Given the description of an element on the screen output the (x, y) to click on. 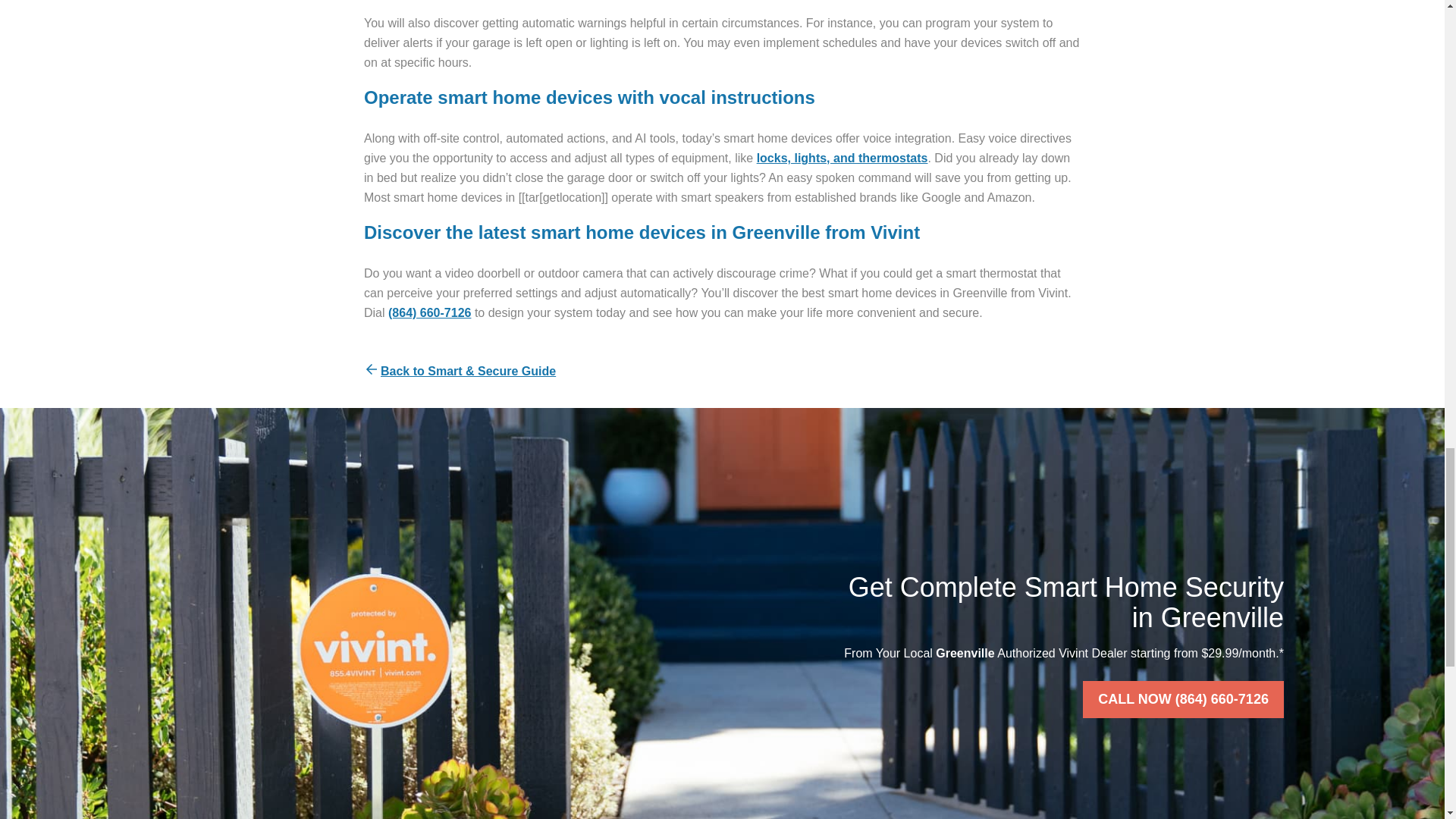
Thermostats, lights, and locks (842, 157)
locks, lights, and thermostats (842, 157)
